Given the description of an element on the screen output the (x, y) to click on. 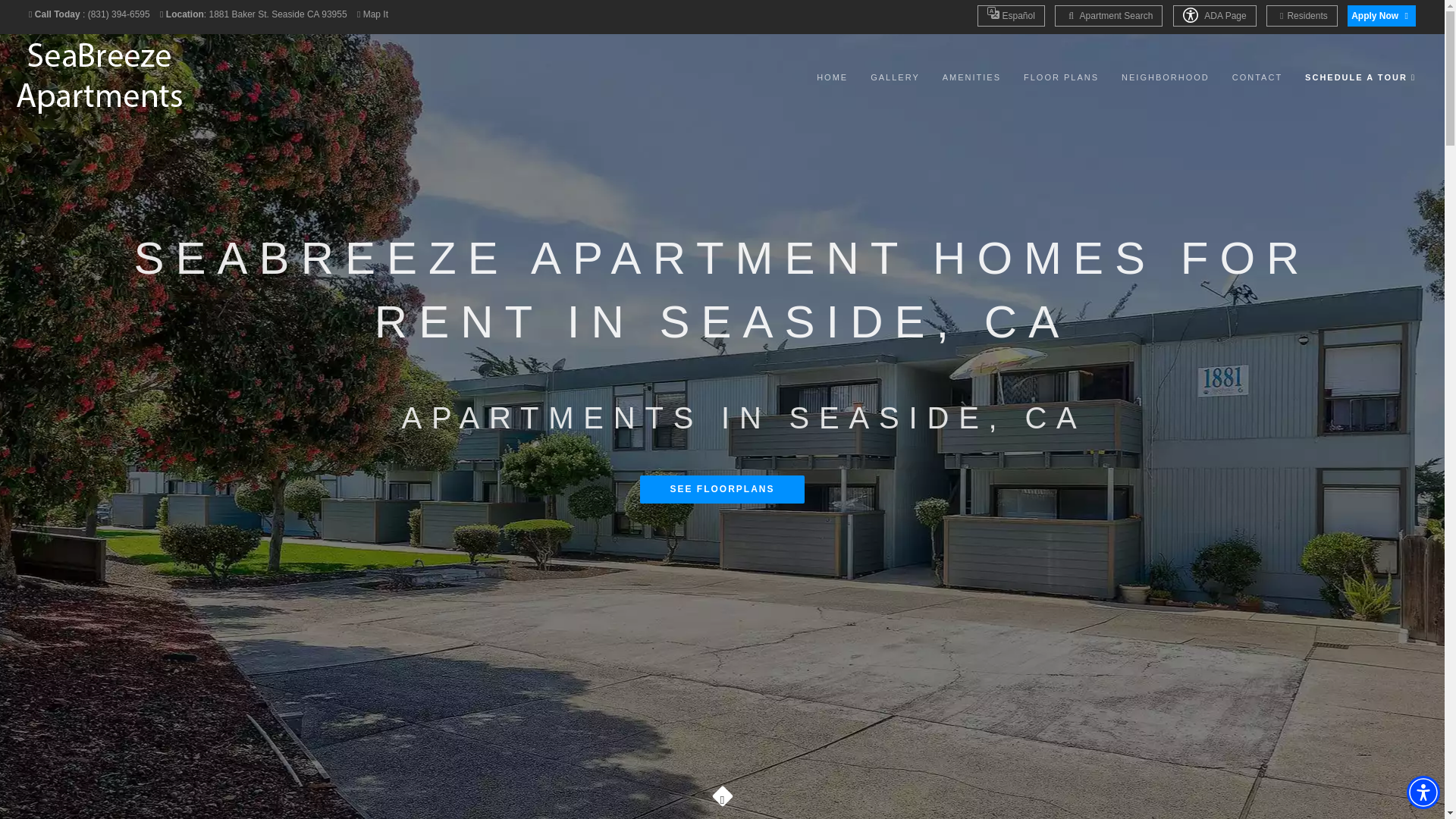
Residents (1302, 15)
ADA Page (1214, 15)
SEE FLOORPLANS (721, 489)
FLOOR PLANS (1061, 77)
Apartment Search (1107, 15)
Map It (375, 14)
SeaBreeze Apartment Homes in Seaside, CA (102, 77)
Accessibility Menu (1422, 792)
AMENITIES (971, 77)
1881 Baker St. Seaside CA 93955 (278, 14)
Apply Now (1381, 15)
SCHEDULE A TOUR (1359, 77)
NEIGHBORHOOD (1165, 77)
